Given the description of an element on the screen output the (x, y) to click on. 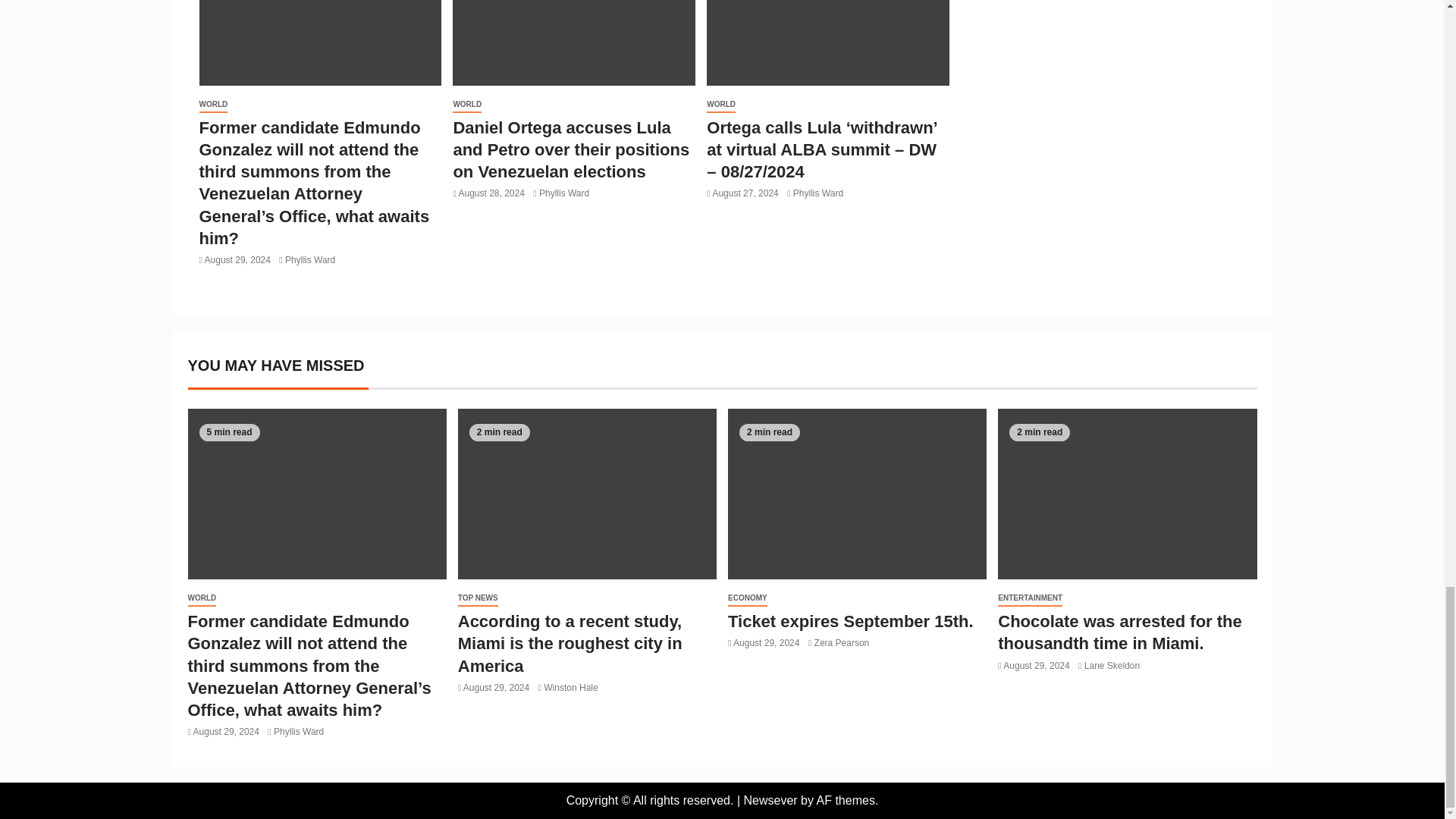
Phyllis Ward (309, 259)
WORLD (466, 105)
WORLD (212, 105)
